Given the description of an element on the screen output the (x, y) to click on. 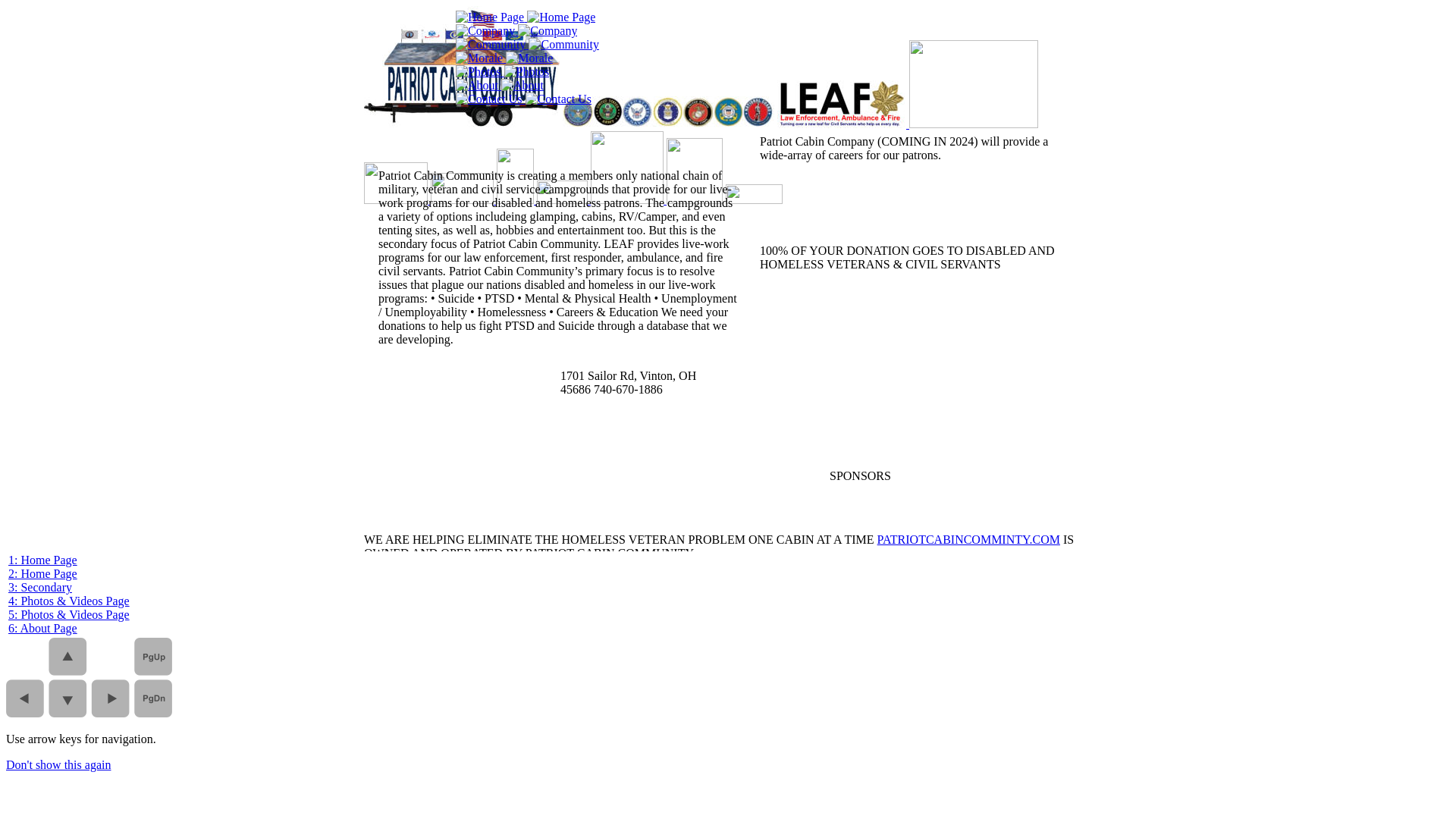
YouTube video player Element type: hover (918, 358)
6: About Page Element type: text (42, 627)
2: Home Page Element type: text (42, 573)
1: Home Page Element type: text (42, 559)
PATRIOTCABINCOMMINTY.COM Element type: text (968, 539)
YouTube video player Element type: hover (918, 358)
4: Photos & Videos Page Element type: text (68, 600)
Don't show this again Element type: text (58, 764)
3: Secondary Element type: text (40, 586)
5: Photos & Videos Page Element type: text (68, 614)
